Given the description of an element on the screen output the (x, y) to click on. 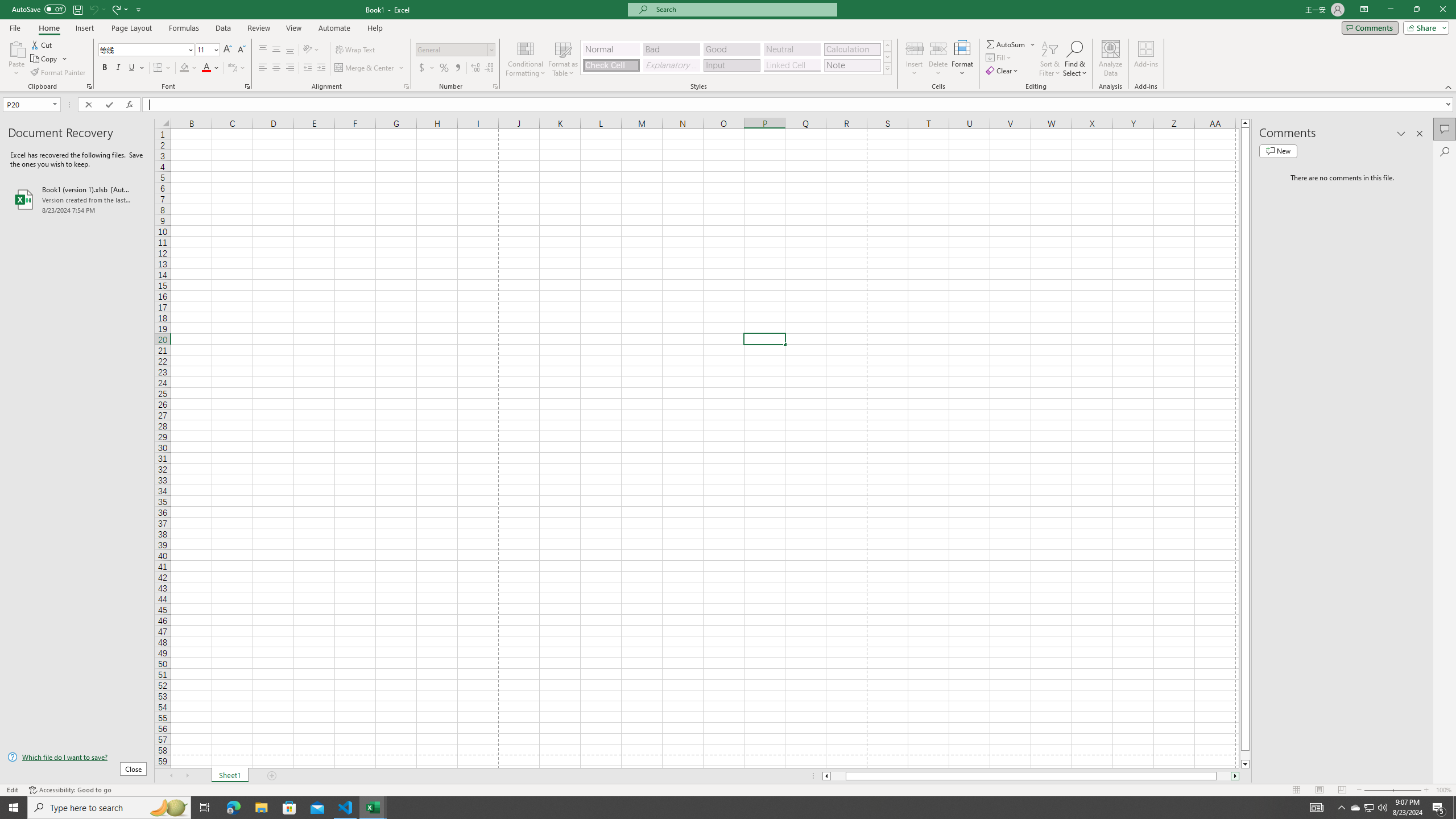
Linked Cell (791, 65)
Insert Cells (914, 48)
Wrap Text (355, 49)
Accounting Number Format (422, 67)
Accounting Number Format (426, 67)
Font Color RGB(255, 0, 0) (206, 67)
Font Size (207, 49)
Merge & Center (369, 67)
Class: MsoCommandBar (728, 45)
Cell Styles (887, 68)
Explanatory Text (671, 65)
